Given the description of an element on the screen output the (x, y) to click on. 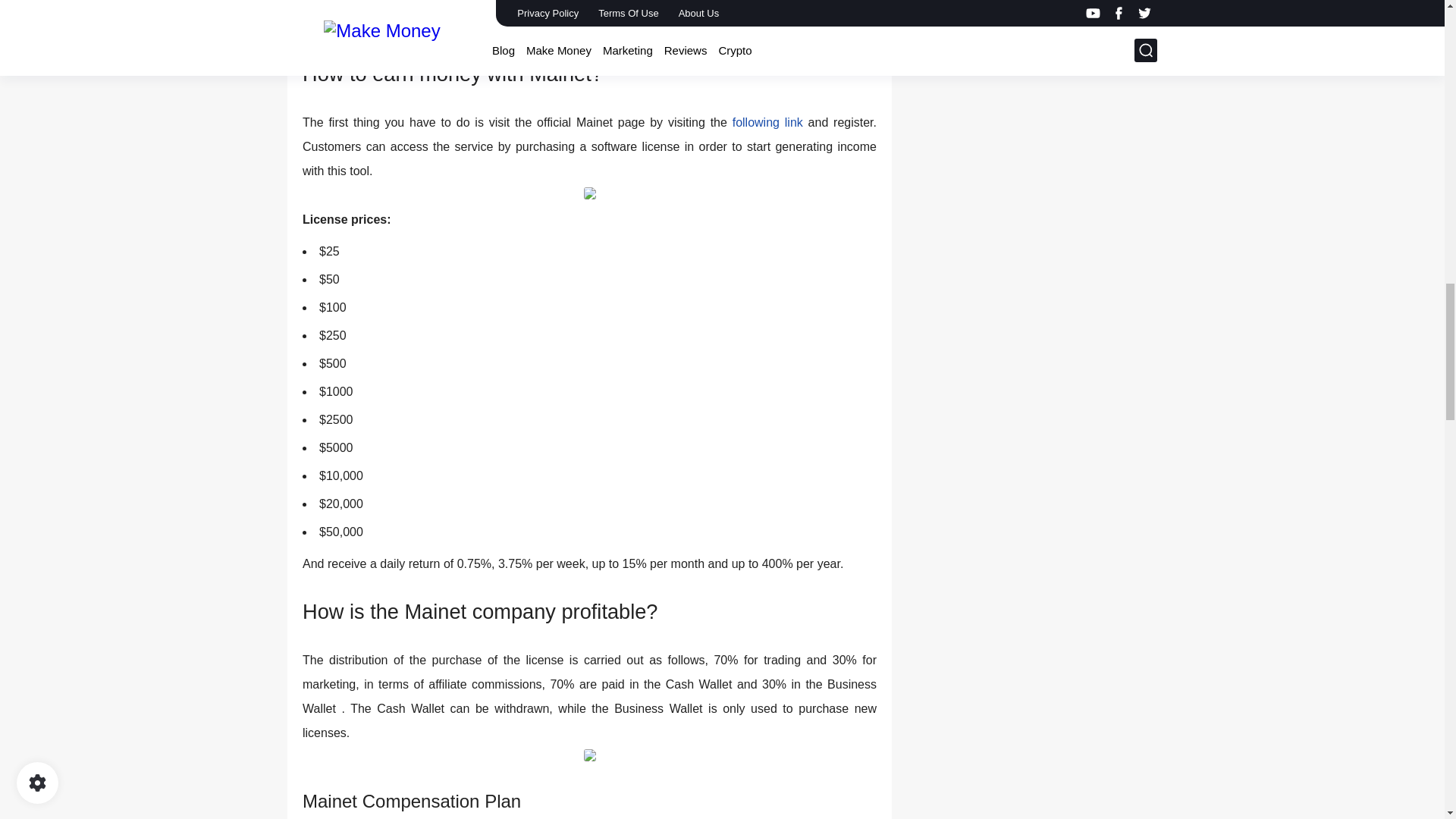
following link (767, 122)
